Given the description of an element on the screen output the (x, y) to click on. 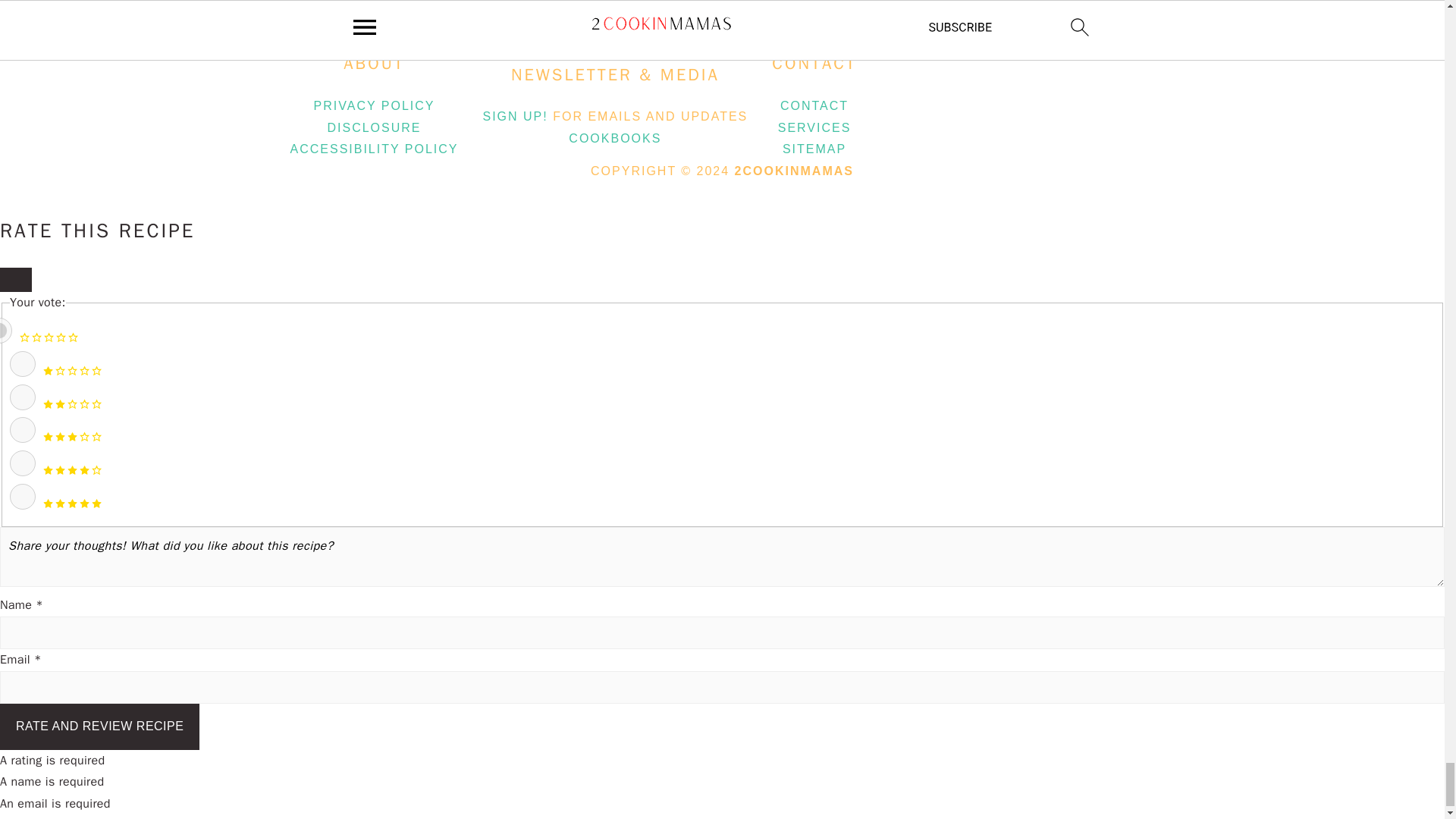
4 (22, 462)
5 (22, 496)
2 (22, 397)
3 (22, 429)
1 (22, 363)
